Given the description of an element on the screen output the (x, y) to click on. 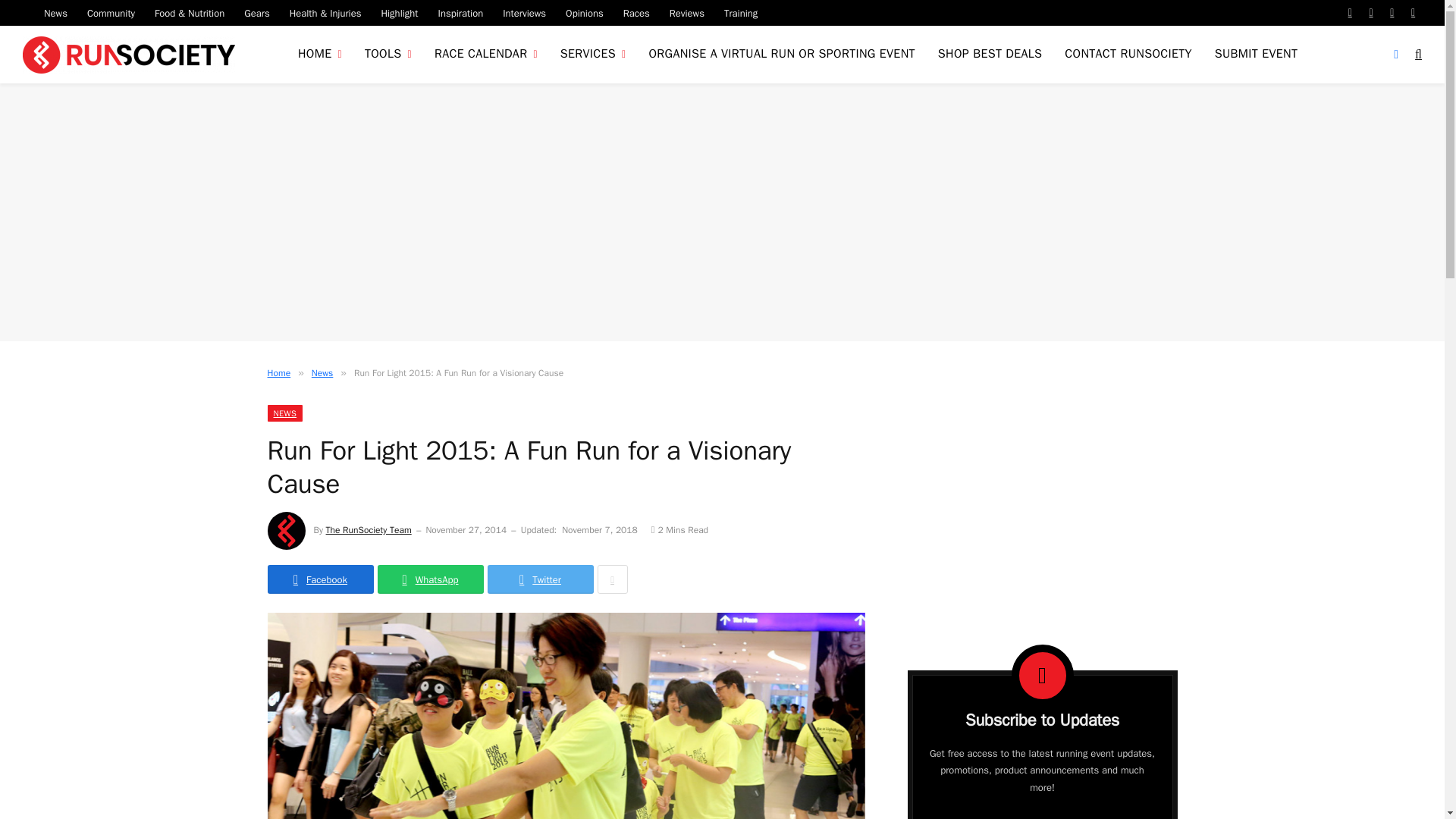
Switch to Dark Design - easier on eyes. (1396, 54)
Share on WhatsApp (430, 579)
Share on Facebook (319, 579)
Posts by The RunSociety Team (369, 530)
